Given the description of an element on the screen output the (x, y) to click on. 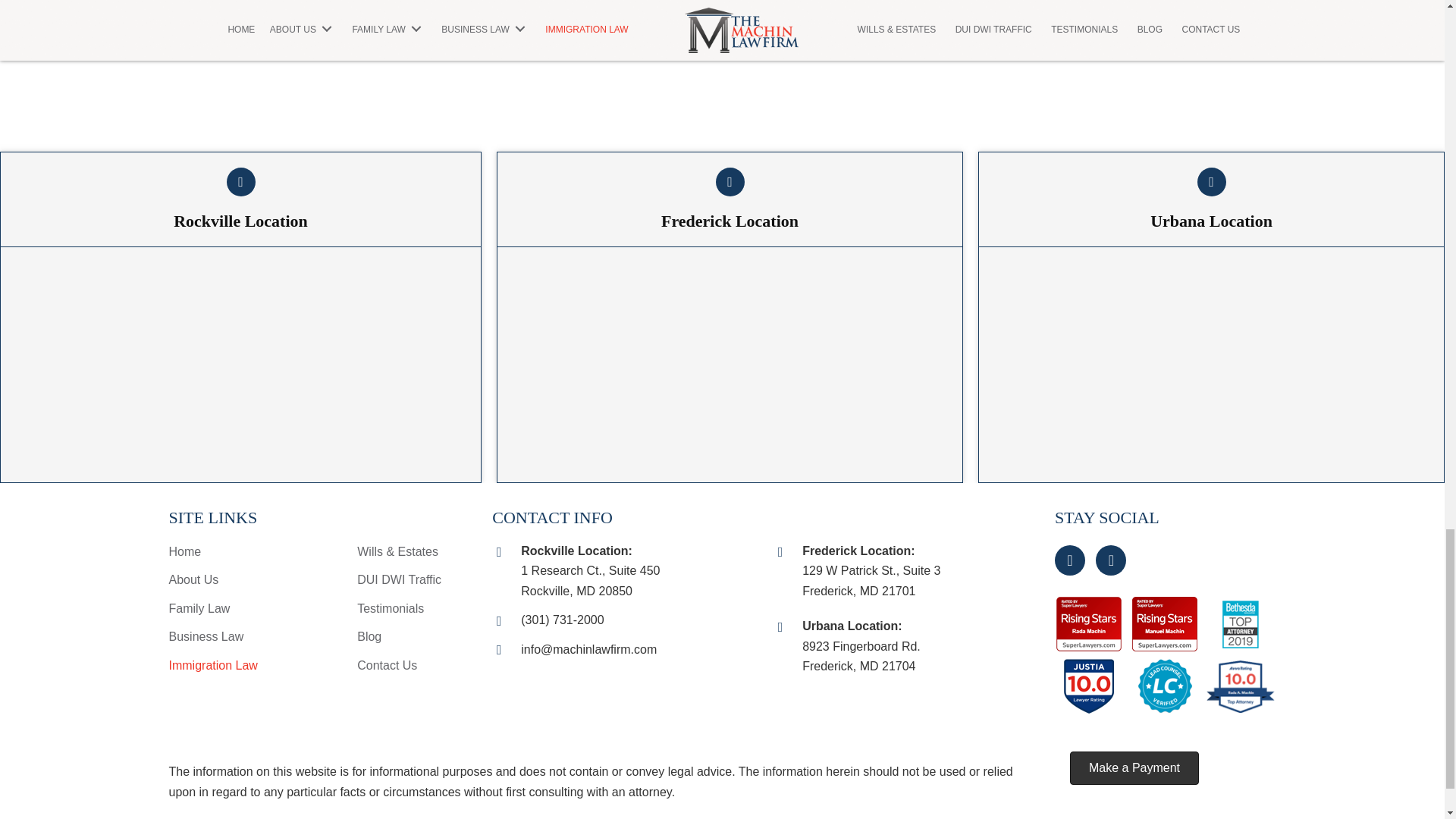
Facebook (1069, 560)
Twitter (1110, 560)
